Given the description of an element on the screen output the (x, y) to click on. 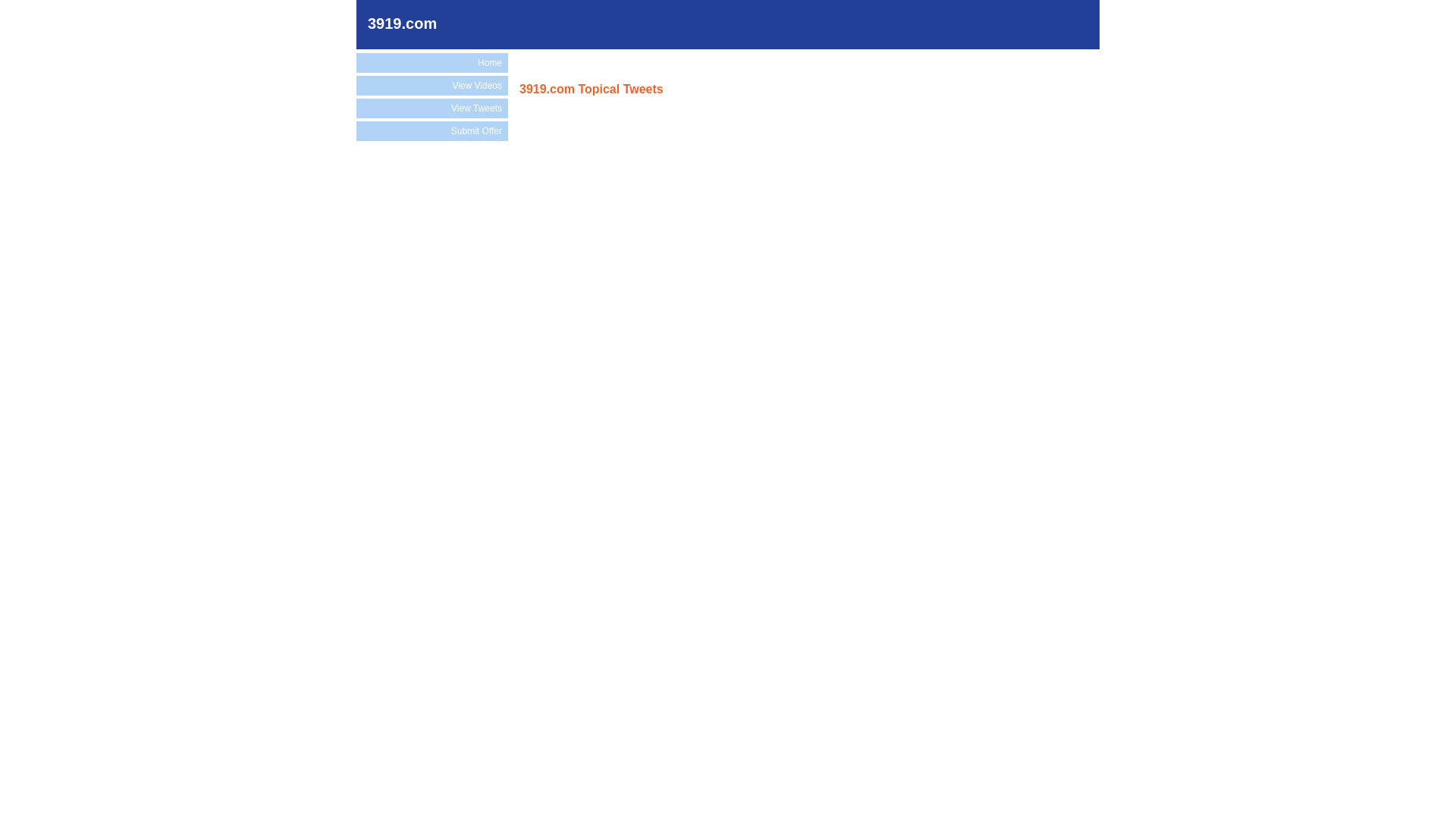
Home Element type: text (432, 62)
View Tweets Element type: text (432, 108)
View Videos Element type: text (432, 85)
Submit Offer Element type: text (432, 131)
